Given the description of an element on the screen output the (x, y) to click on. 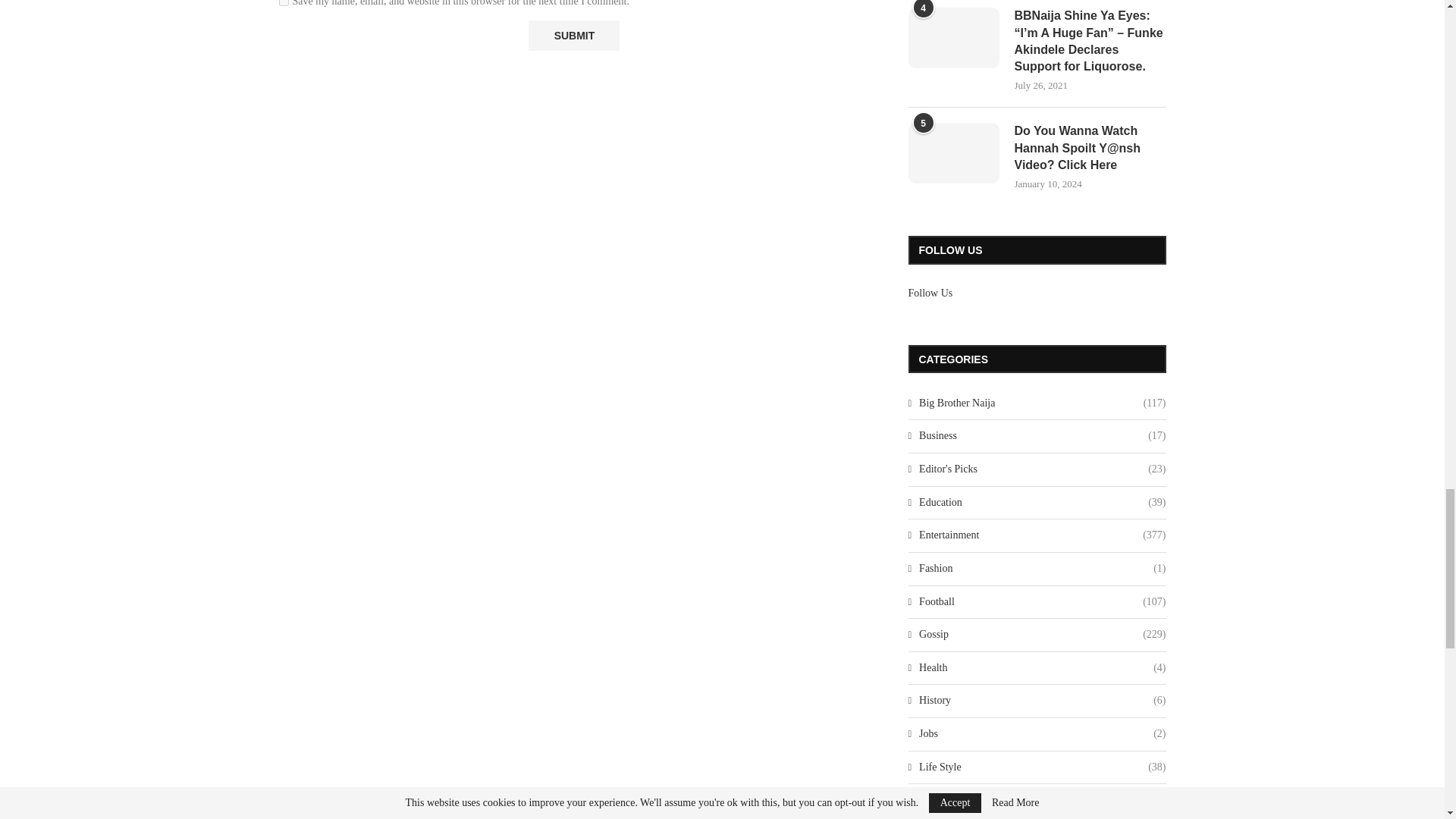
Submit (574, 35)
yes (283, 2)
